Given the description of an element on the screen output the (x, y) to click on. 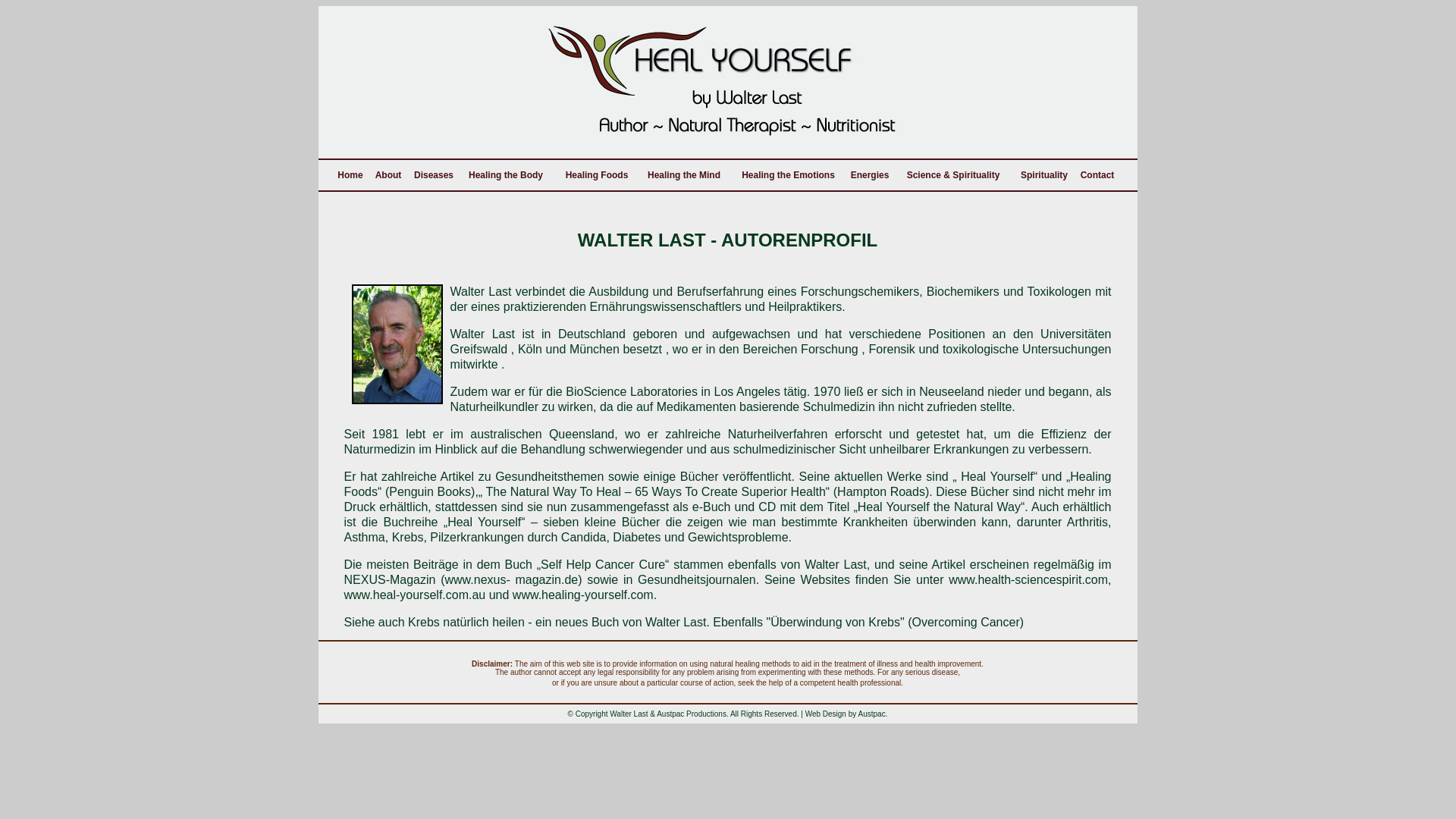
www.nexus- magazin.de Element type: text (510, 579)
Austpac. Element type: text (873, 713)
www.healing-yourself.com Element type: text (582, 594)
Heal Yourself the Natural Way Element type: text (938, 506)
www.health-sciencespirit.com Element type: text (1027, 579)
www.heal-yourself.com.au Element type: text (415, 594)
Overcoming Cancer Element type: text (965, 621)
